Given the description of an element on the screen output the (x, y) to click on. 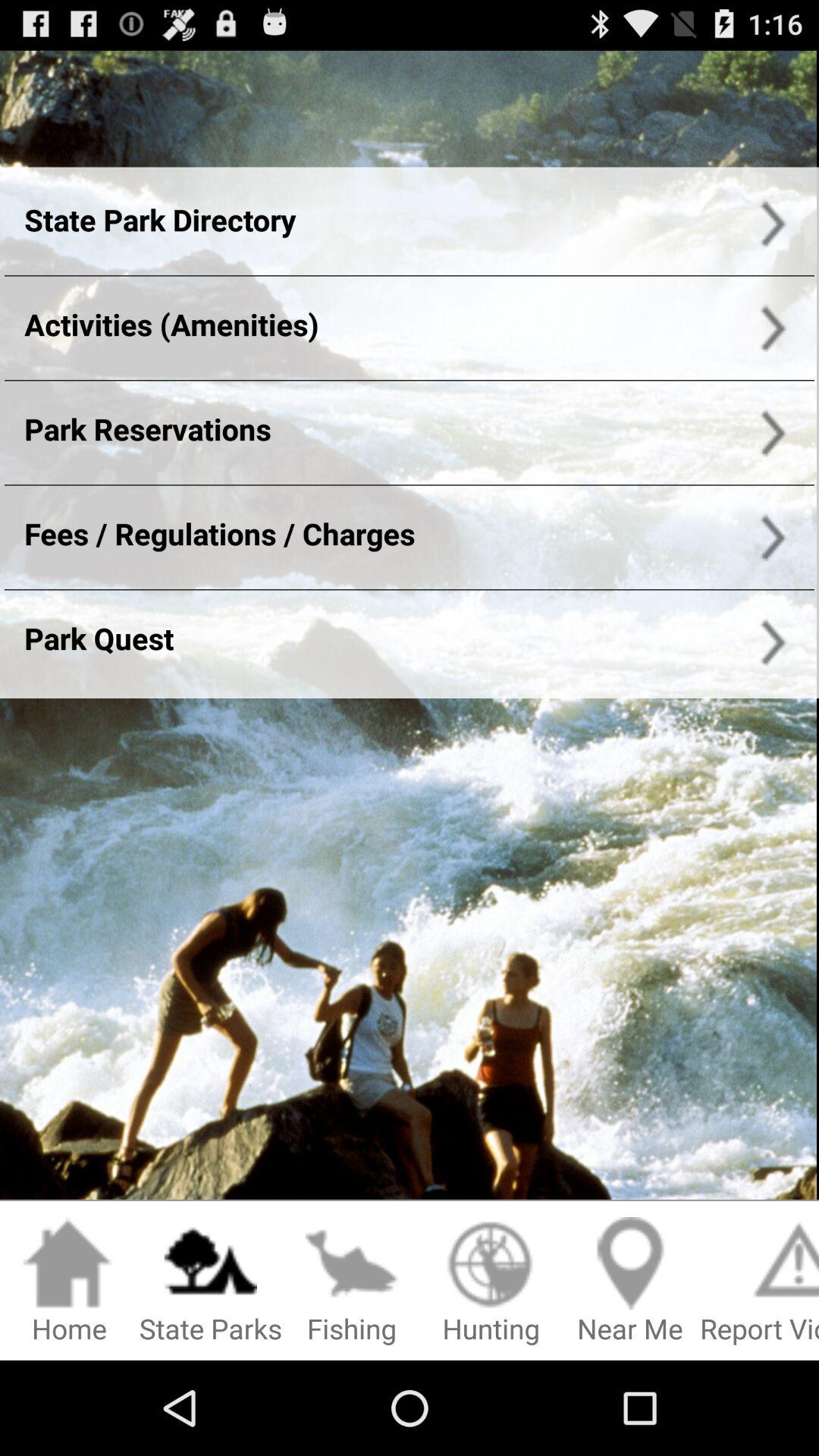
click on the icon right to the text near me (759, 1282)
click on hunting (491, 1282)
go to right of charges (770, 536)
select the fishing option (351, 1282)
